Given the description of an element on the screen output the (x, y) to click on. 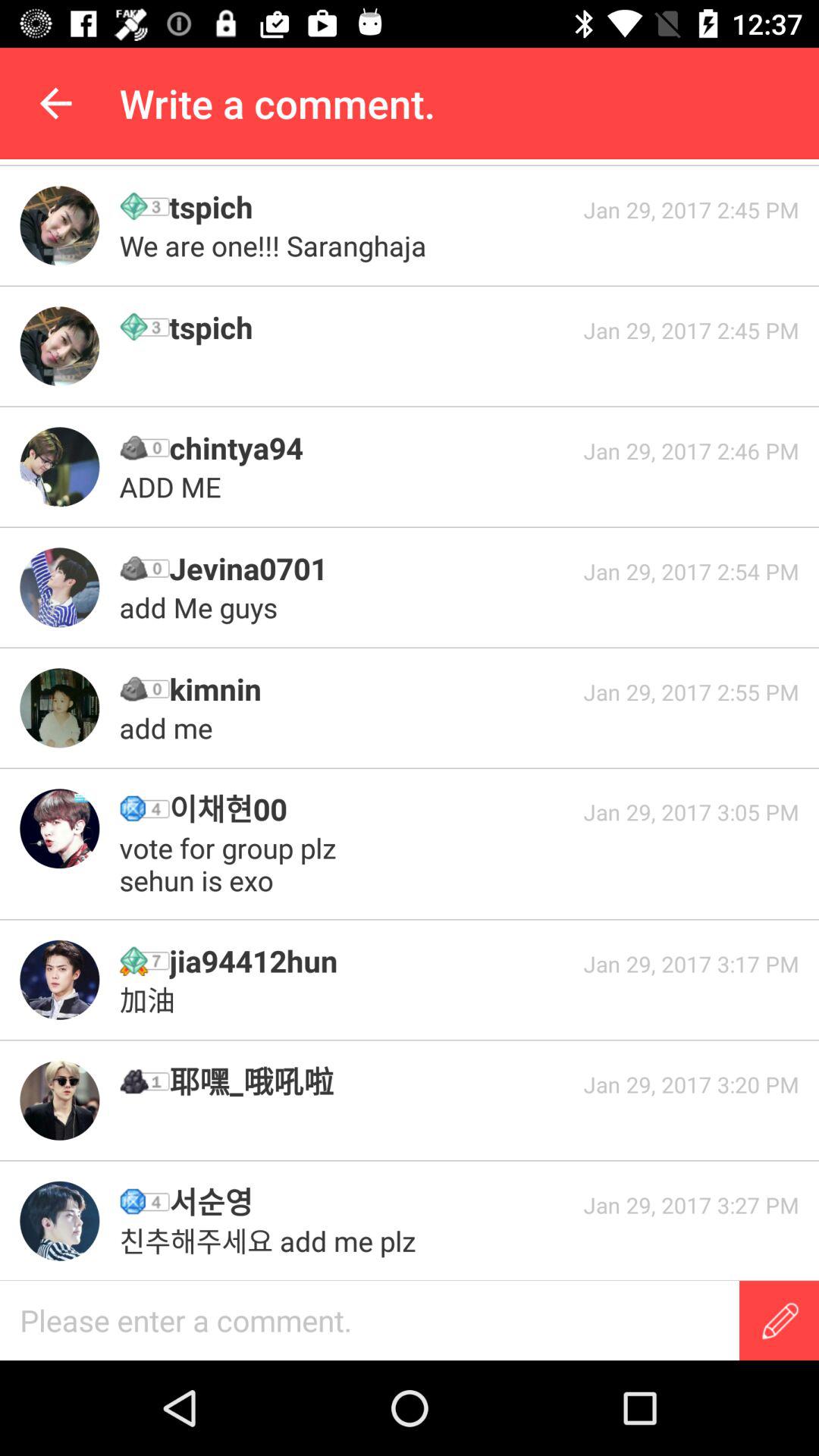
launch the item below add me (371, 808)
